Given the description of an element on the screen output the (x, y) to click on. 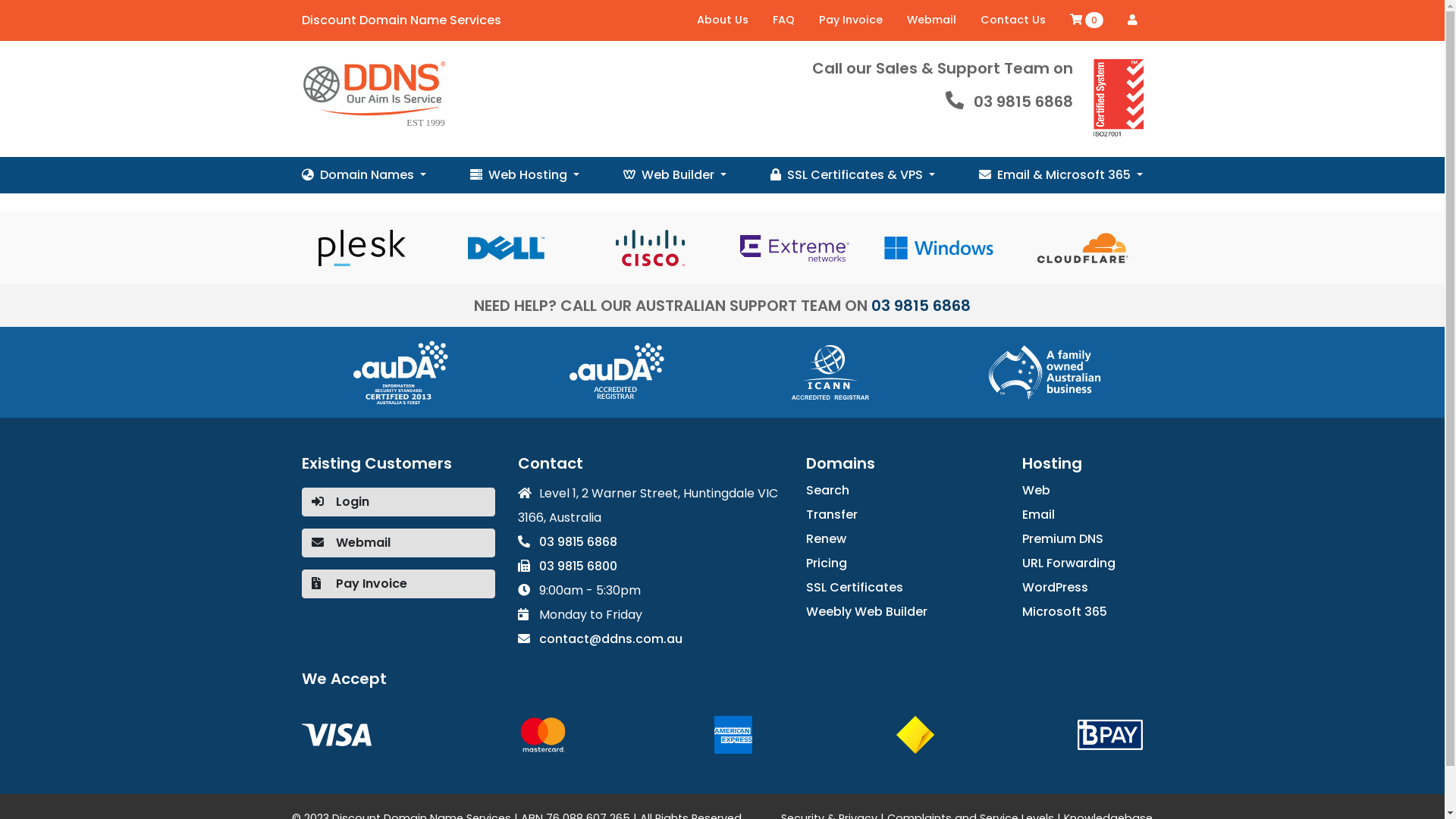
SSL Certificates & VPS Element type: text (852, 174)
Discount Domain Name Services Element type: hover (372, 95)
Email & Microsoft 365 Element type: text (1060, 174)
SSL Certificates Element type: text (901, 587)
FAQ Element type: text (782, 20)
Web Element type: text (1082, 490)
Weebly Web Builder Element type: text (901, 611)
About Us Element type: text (721, 20)
Login Element type: hover (1131, 19)
Transfer Element type: text (901, 514)
Domain Names Element type: text (363, 174)
ICANN Element type: hover (830, 371)
Webmail Element type: text (931, 20)
Discount Domain Name Services Element type: text (401, 20)
URL Forwarding Element type: text (1082, 563)
Login Element type: text (398, 506)
Search Element type: text (901, 490)
0 Element type: text (1085, 20)
Pay Invoice Element type: text (850, 20)
ISO27001 Data Security Certified Element type: hover (1118, 99)
contact@ddns.com.au Element type: text (649, 639)
03 9815 6868 Element type: text (1023, 101)
Webmail Element type: text (398, 568)
Pay Invoice Element type: text (398, 609)
03 9815 6868 Element type: text (649, 542)
Email Element type: text (1082, 514)
Web Builder Element type: text (674, 174)
Premium DNS Element type: text (1082, 539)
Renew Element type: text (901, 539)
Web Hosting Element type: text (524, 174)
WordPress Element type: text (1082, 587)
Pricing Element type: text (901, 563)
Contact Us Element type: text (1012, 20)
03 9815 6868 Element type: text (920, 305)
Microsoft 365 Element type: text (1082, 611)
03 9815 6800 Element type: text (649, 566)
